Given the description of an element on the screen output the (x, y) to click on. 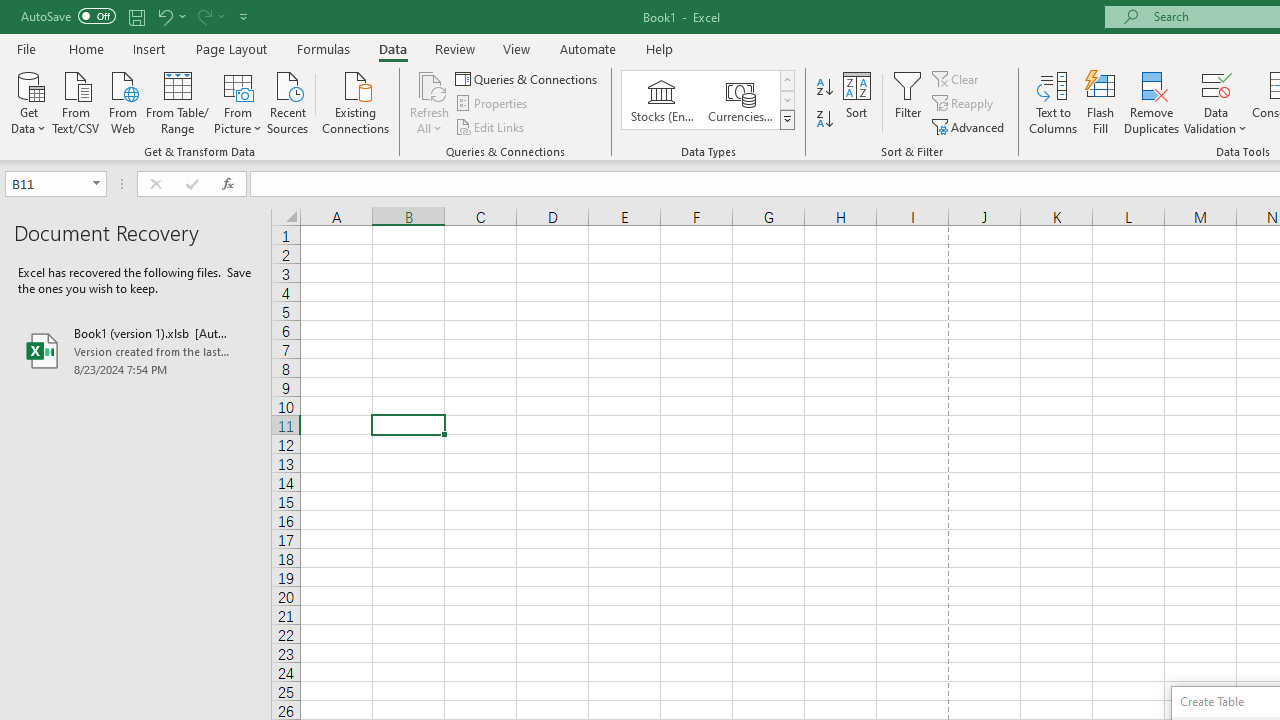
Properties (492, 103)
Queries & Connections (527, 78)
Stocks (English) (662, 100)
AutomationID: ConvertToLinkedEntity (708, 99)
Reapply (964, 103)
Sort... (856, 102)
Row Down (786, 100)
From Table/Range (177, 101)
Remove Duplicates (1151, 102)
Row up (786, 79)
Recent Sources (287, 101)
Get Data (28, 101)
